Given the description of an element on the screen output the (x, y) to click on. 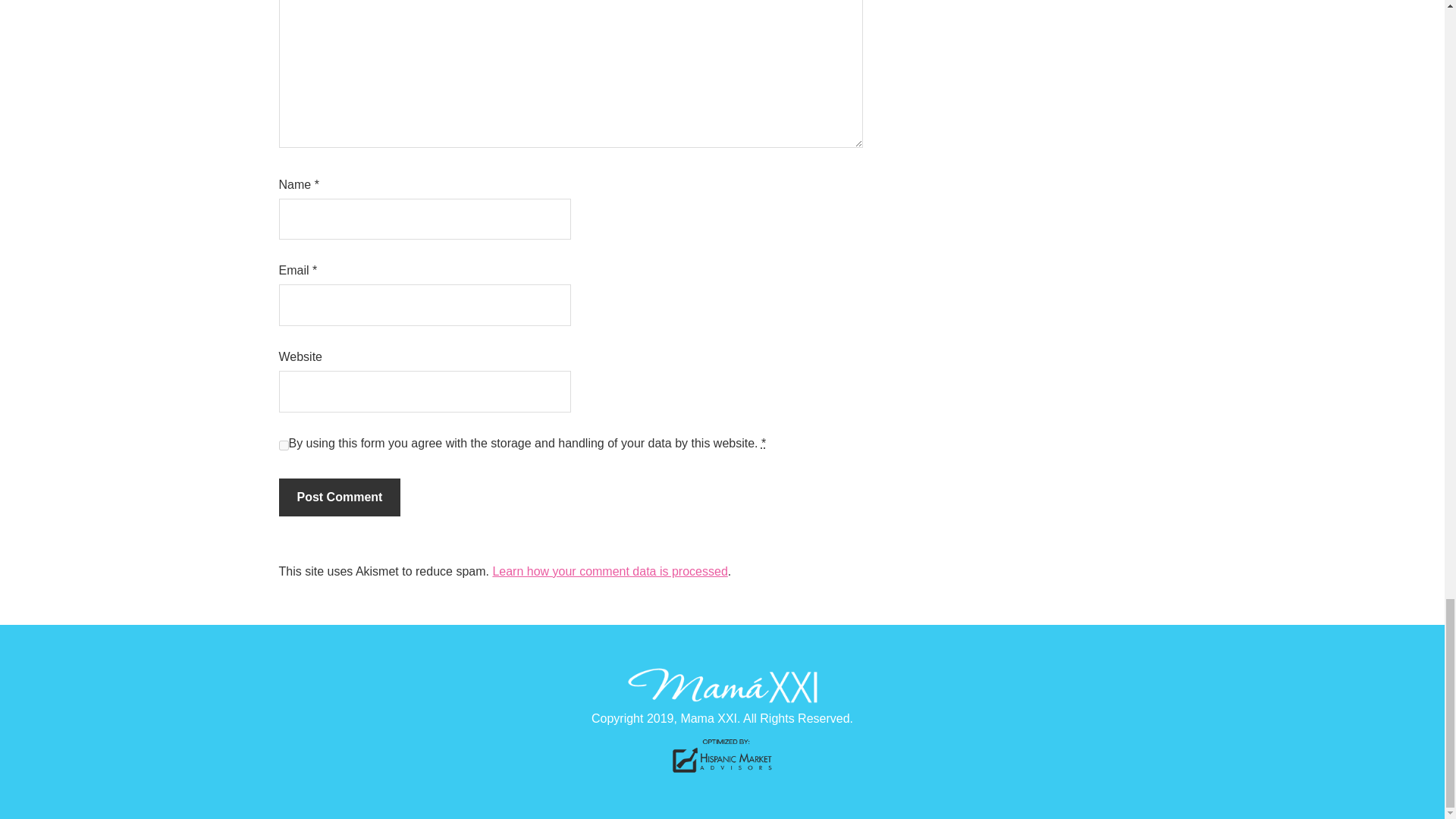
Learn how your comment data is processed (609, 571)
Post Comment (340, 497)
Post Comment (340, 497)
